Given the description of an element on the screen output the (x, y) to click on. 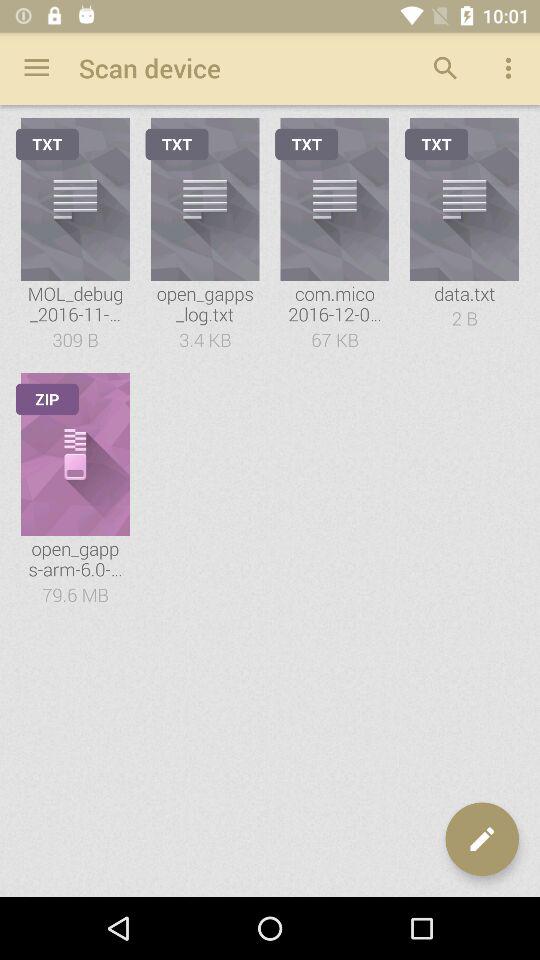
open the icon next to scan device item (36, 68)
